Given the description of an element on the screen output the (x, y) to click on. 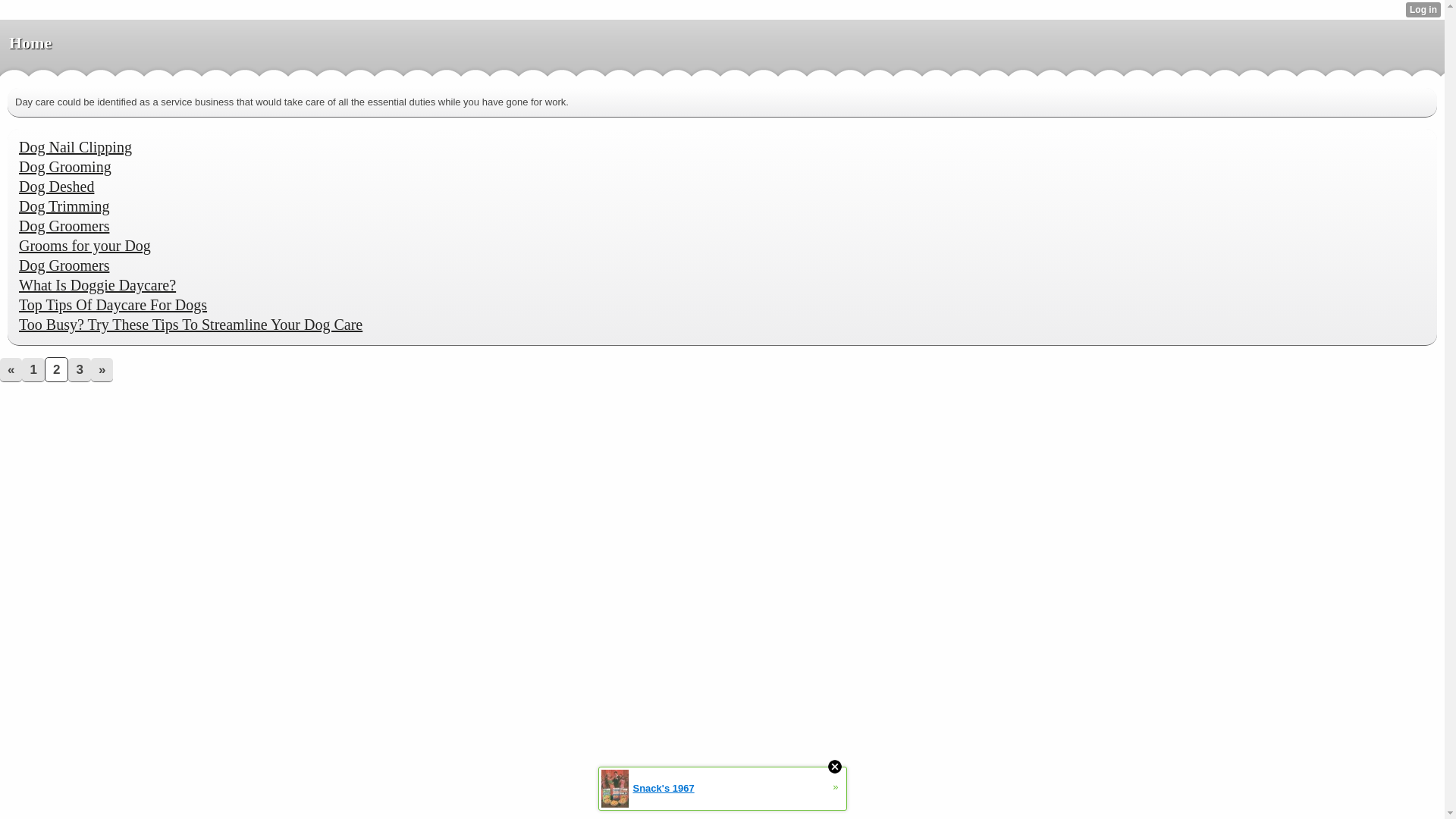
Top Tips Of Daycare For Dogs (114, 306)
Dog Nail Clipping (76, 148)
What Is Doggie Daycare? (98, 286)
Dog Groomers (65, 227)
Grooms for your Dog (86, 247)
Dog Trimming (65, 207)
Too Busy? Try These Tips To Streamline Your Dog Care (192, 326)
Dog Deshed (57, 188)
Home (29, 43)
Dog Groomers (65, 266)
Dog Grooming (66, 168)
